Given the description of an element on the screen output the (x, y) to click on. 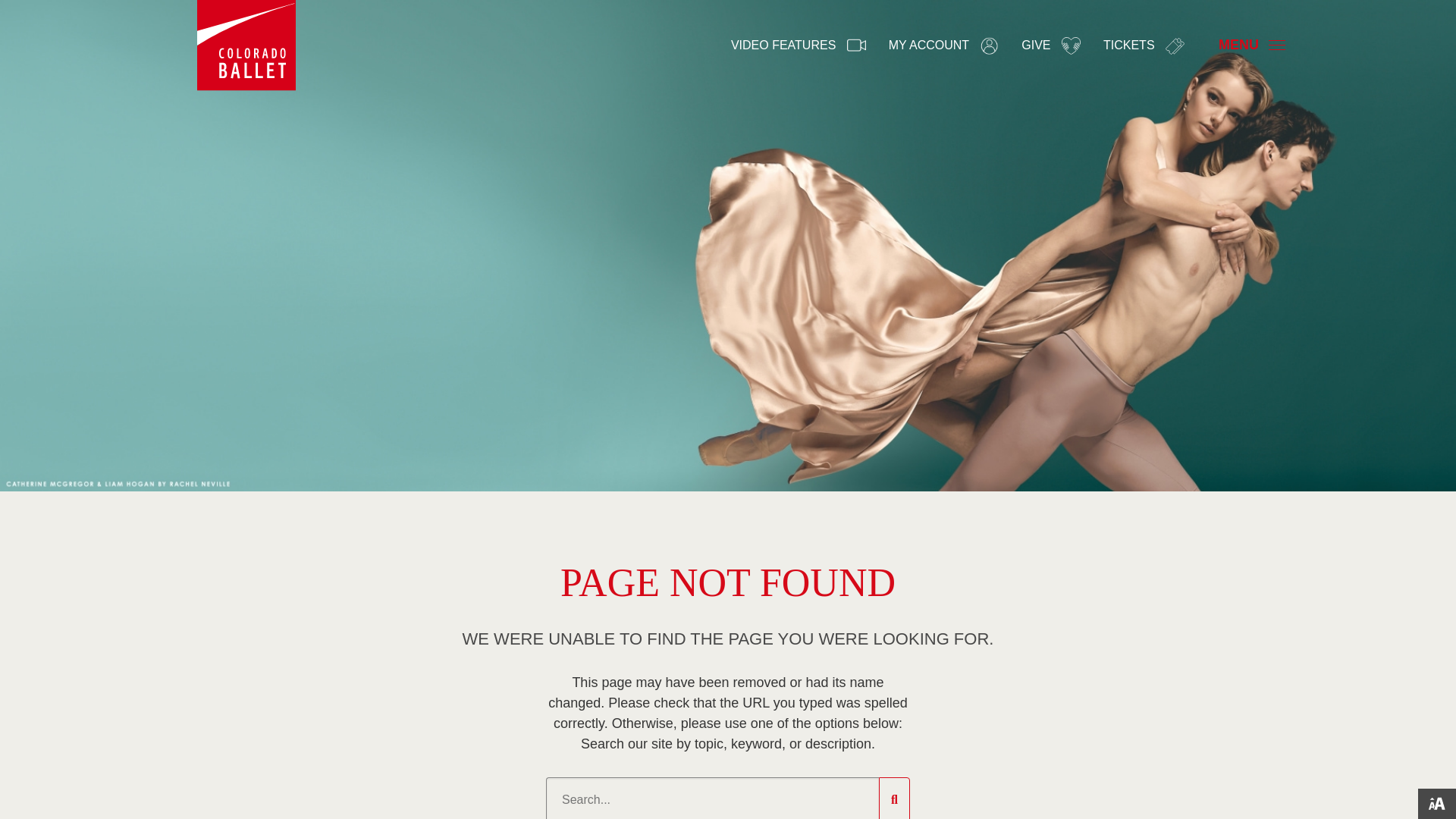
My Account (988, 45)
Video Features (856, 45)
Tickets (1175, 45)
Search (713, 798)
Give (1070, 45)
